Given the description of an element on the screen output the (x, y) to click on. 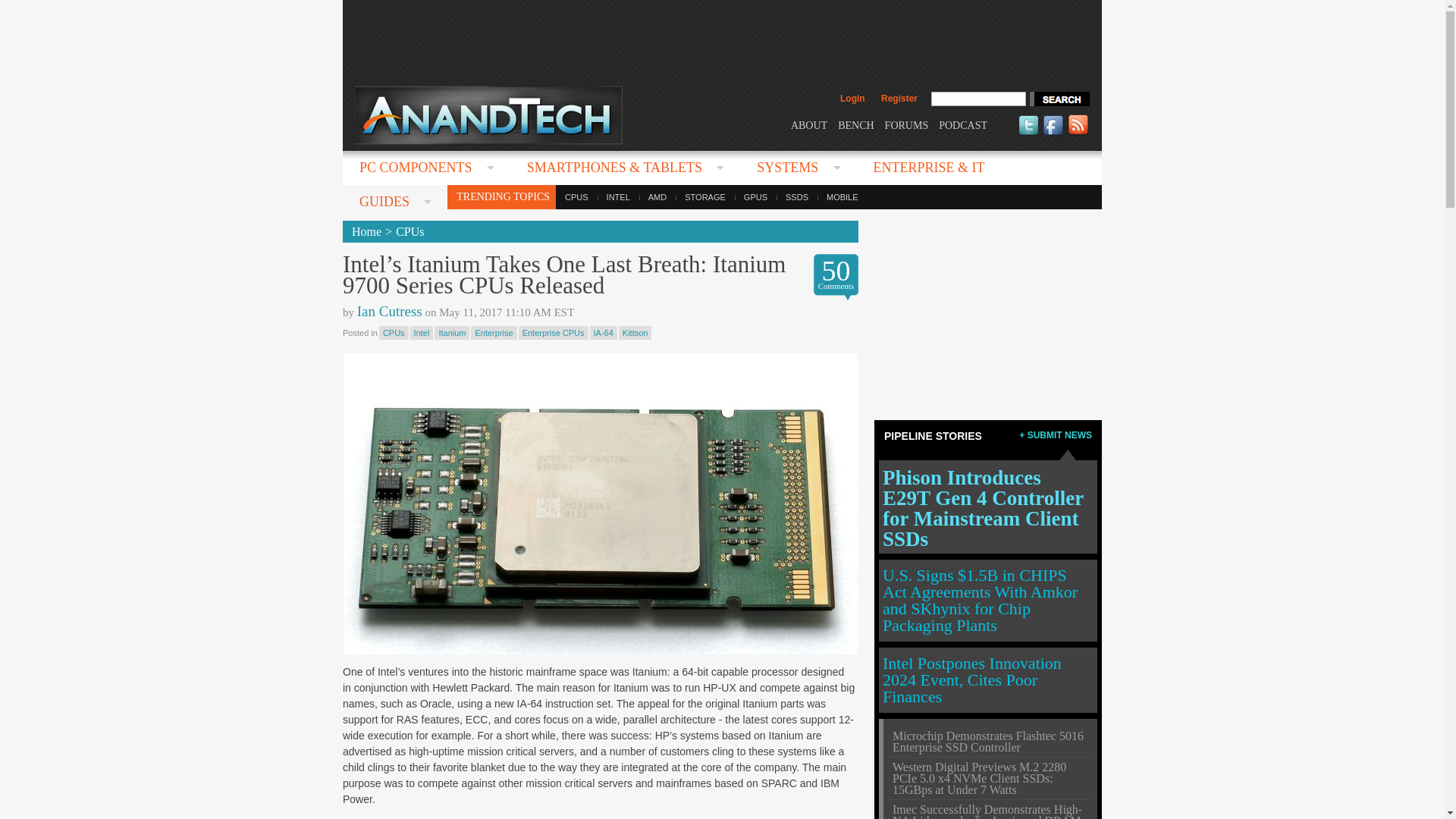
search (1059, 98)
PODCAST (963, 125)
search (1059, 98)
Login (852, 98)
BENCH (855, 125)
search (1059, 98)
FORUMS (906, 125)
Register (898, 98)
ABOUT (808, 125)
